Given the description of an element on the screen output the (x, y) to click on. 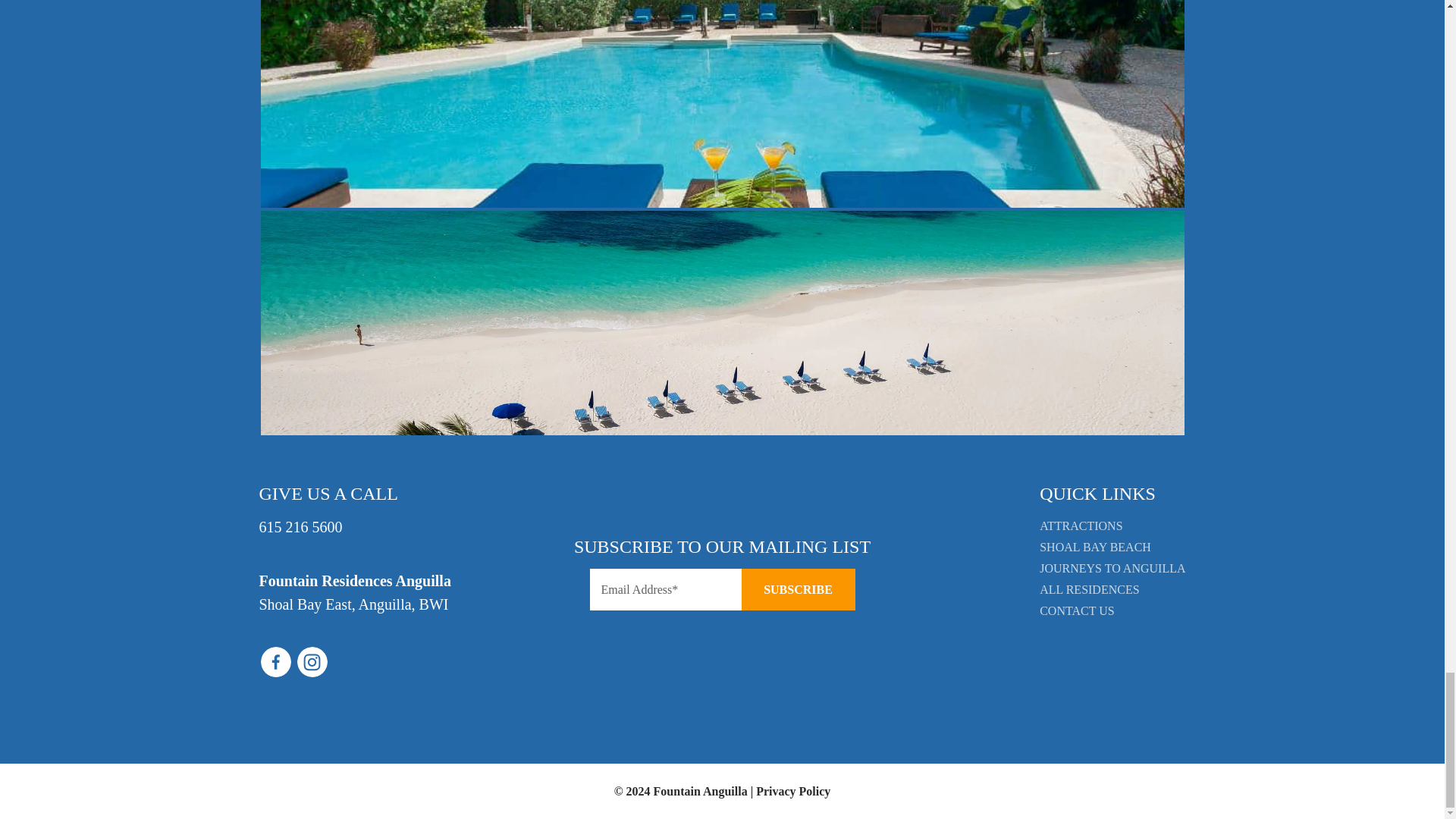
Subscribe (798, 589)
